Given the description of an element on the screen output the (x, y) to click on. 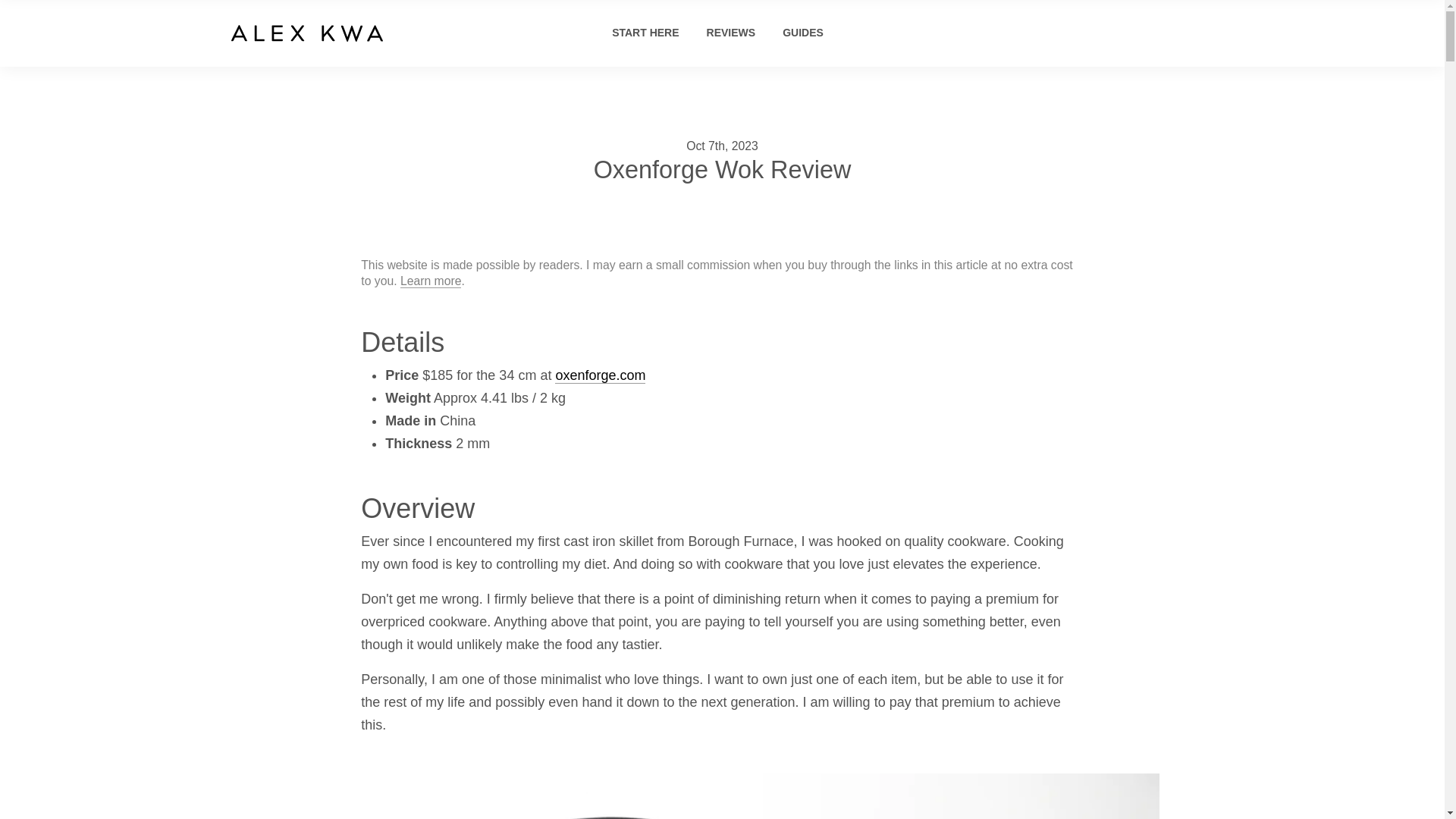
oxenforge.com (599, 375)
GUIDES (803, 32)
START HERE (644, 32)
REVIEWS (730, 32)
Learn more (430, 281)
